Given the description of an element on the screen output the (x, y) to click on. 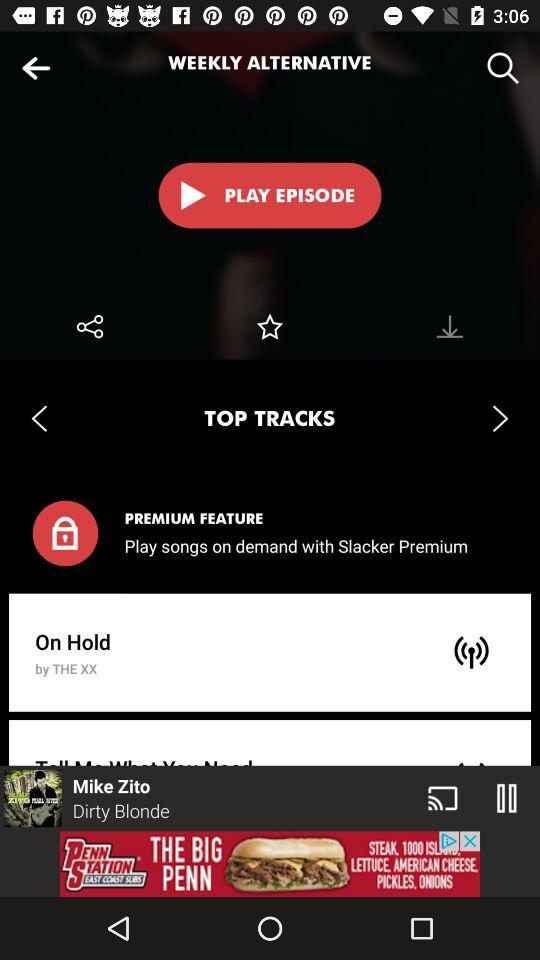
go back (36, 68)
